Given the description of an element on the screen output the (x, y) to click on. 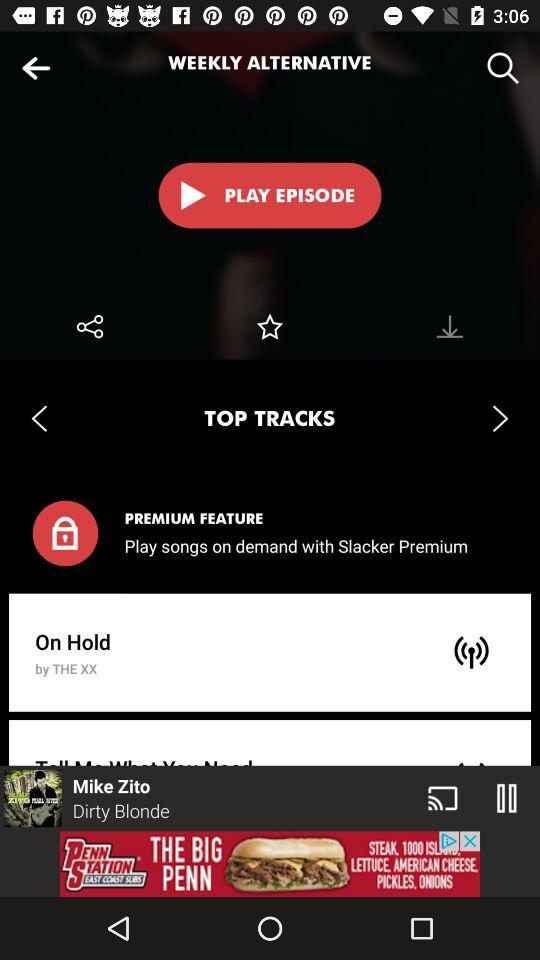
go back (36, 68)
